Given the description of an element on the screen output the (x, y) to click on. 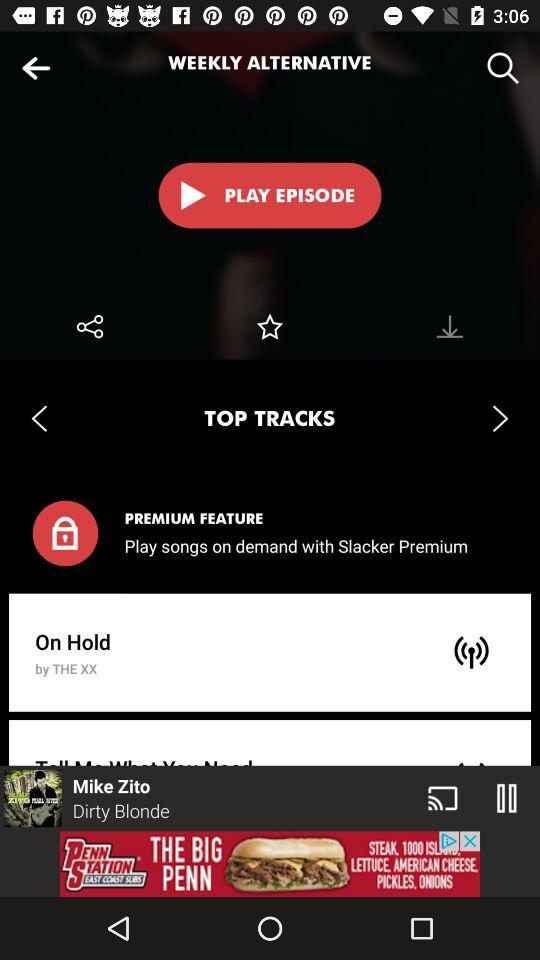
go back (36, 68)
